Given the description of an element on the screen output the (x, y) to click on. 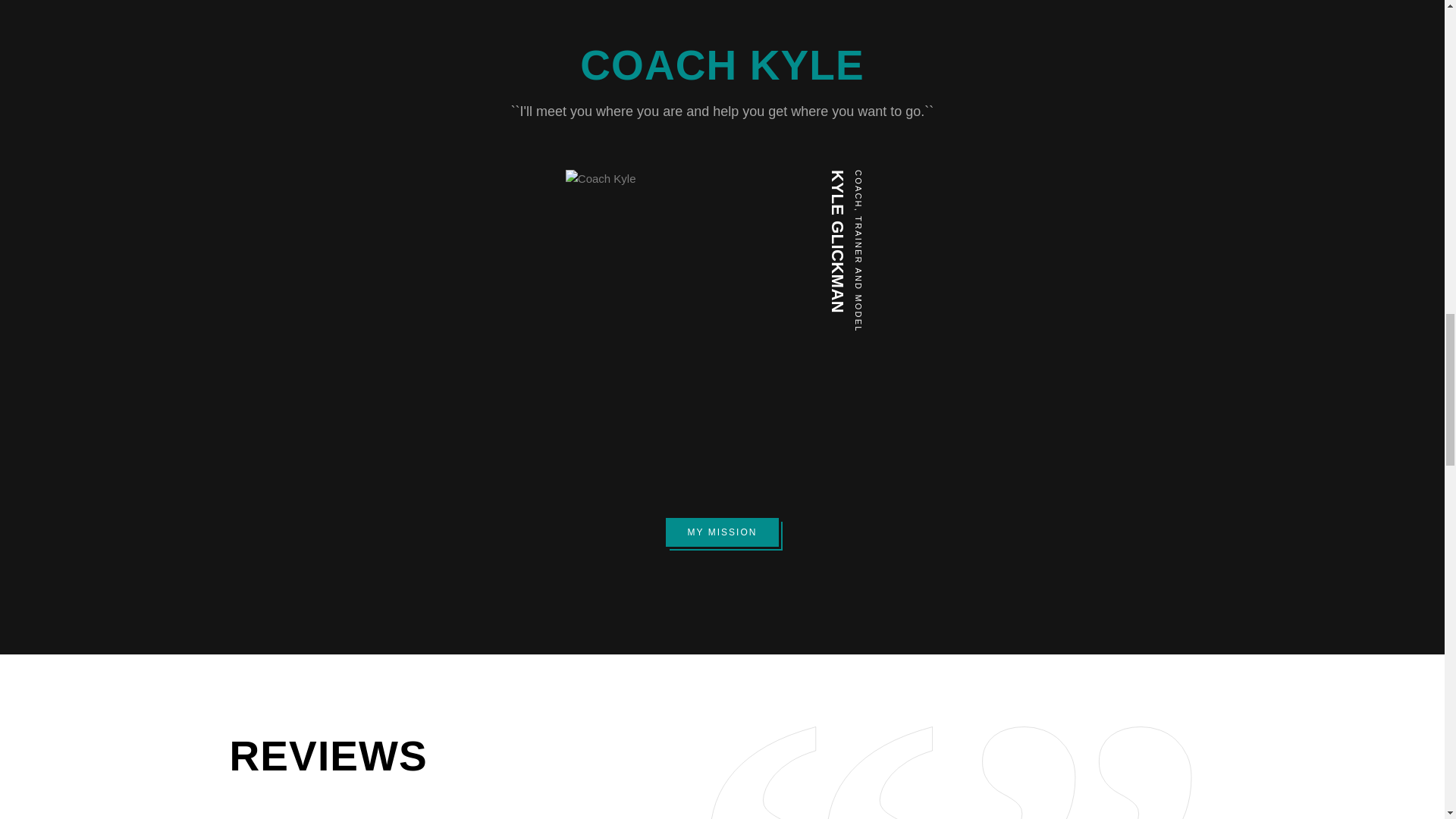
MY MISSION (721, 532)
